Given the description of an element on the screen output the (x, y) to click on. 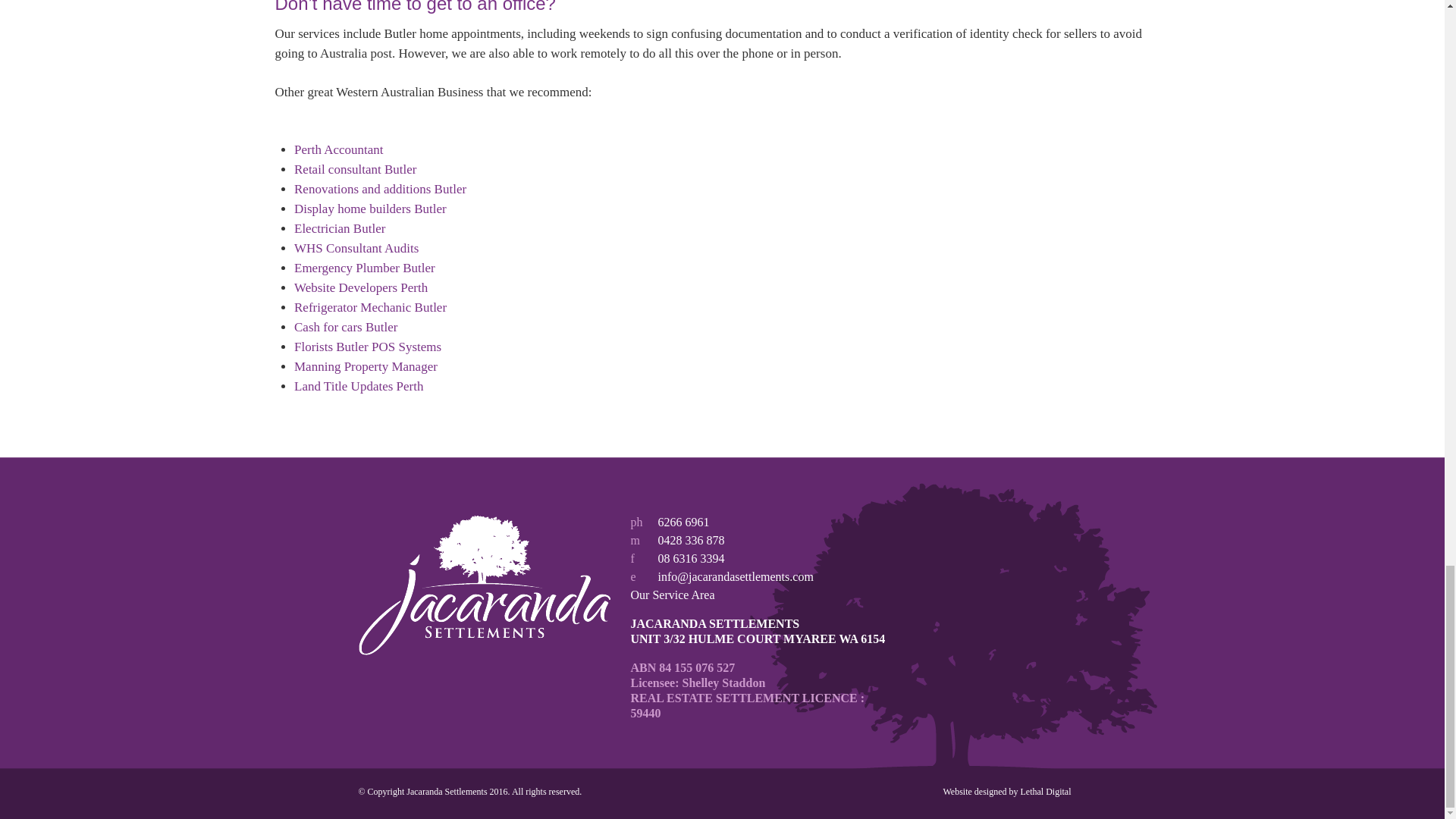
Land Title Updates Perth (358, 386)
Display home builders Butler (370, 208)
Retail consultant Butler (355, 169)
Cash for cars Butler (345, 327)
Renovations and additions Butler (379, 188)
Perth Accountant (339, 149)
Website Developers Perth (361, 287)
Our Service Area (672, 594)
Emergency Plumber Butler (364, 268)
Florists Butler POS Systems (367, 346)
Manning Property Manager (366, 366)
Refrigerator Mechanic Butler (370, 307)
Electrician Butler (339, 228)
WHS Consultant Audits (356, 247)
